Given the description of an element on the screen output the (x, y) to click on. 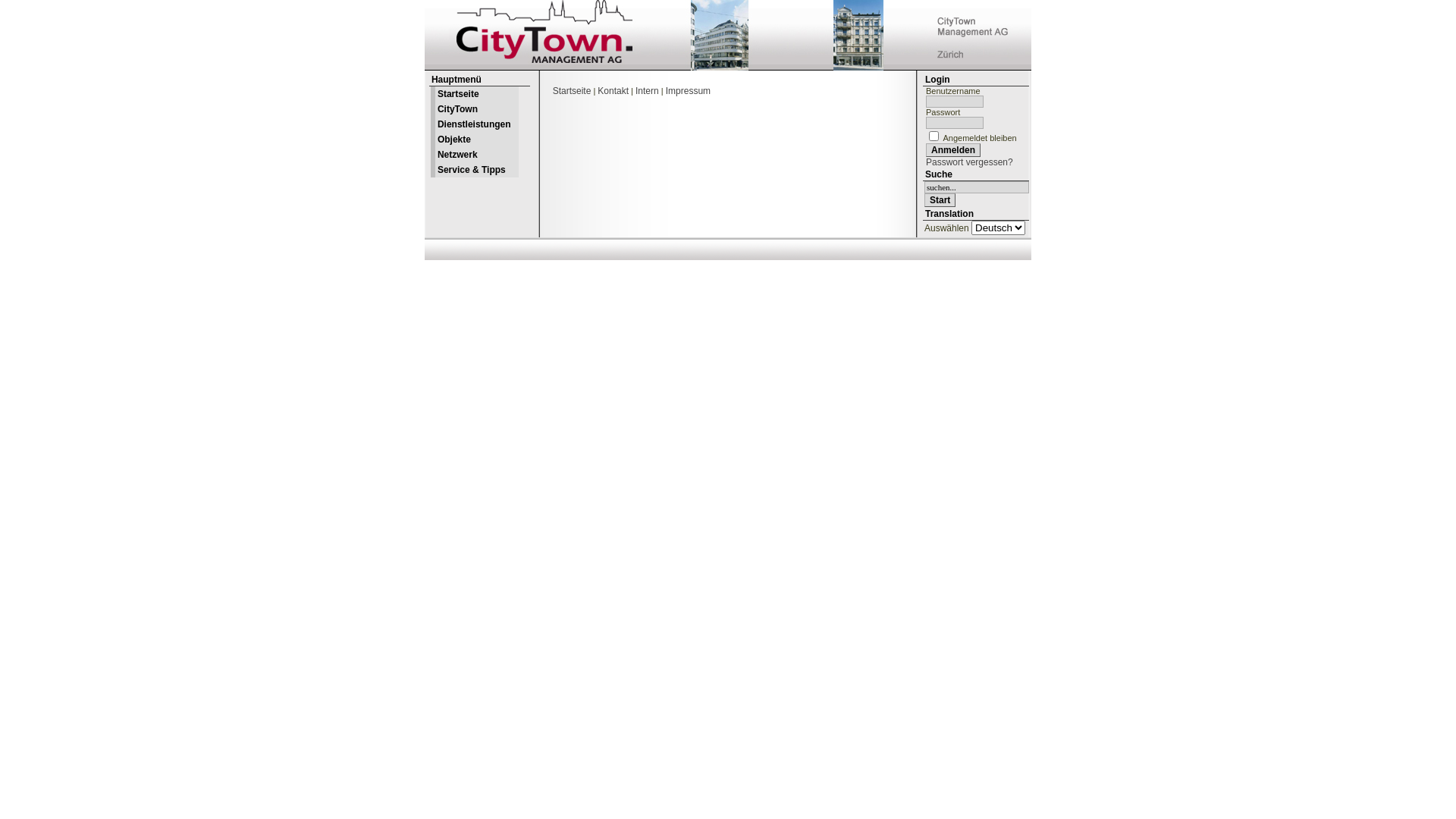
Netzwerk Element type: text (474, 154)
CityTown Element type: text (474, 108)
Passwort vergessen? Element type: text (969, 161)
Kontakt Element type: text (612, 90)
Anmelden Element type: text (952, 149)
Intern Element type: text (646, 90)
Dienstleistungen Element type: text (474, 123)
Impressum Element type: text (687, 90)
Objekte Element type: text (474, 139)
Startseite Element type: text (571, 90)
Start Element type: text (939, 200)
Startseite Element type: text (474, 93)
Service & Tipps Element type: text (474, 169)
